Given the description of an element on the screen output the (x, y) to click on. 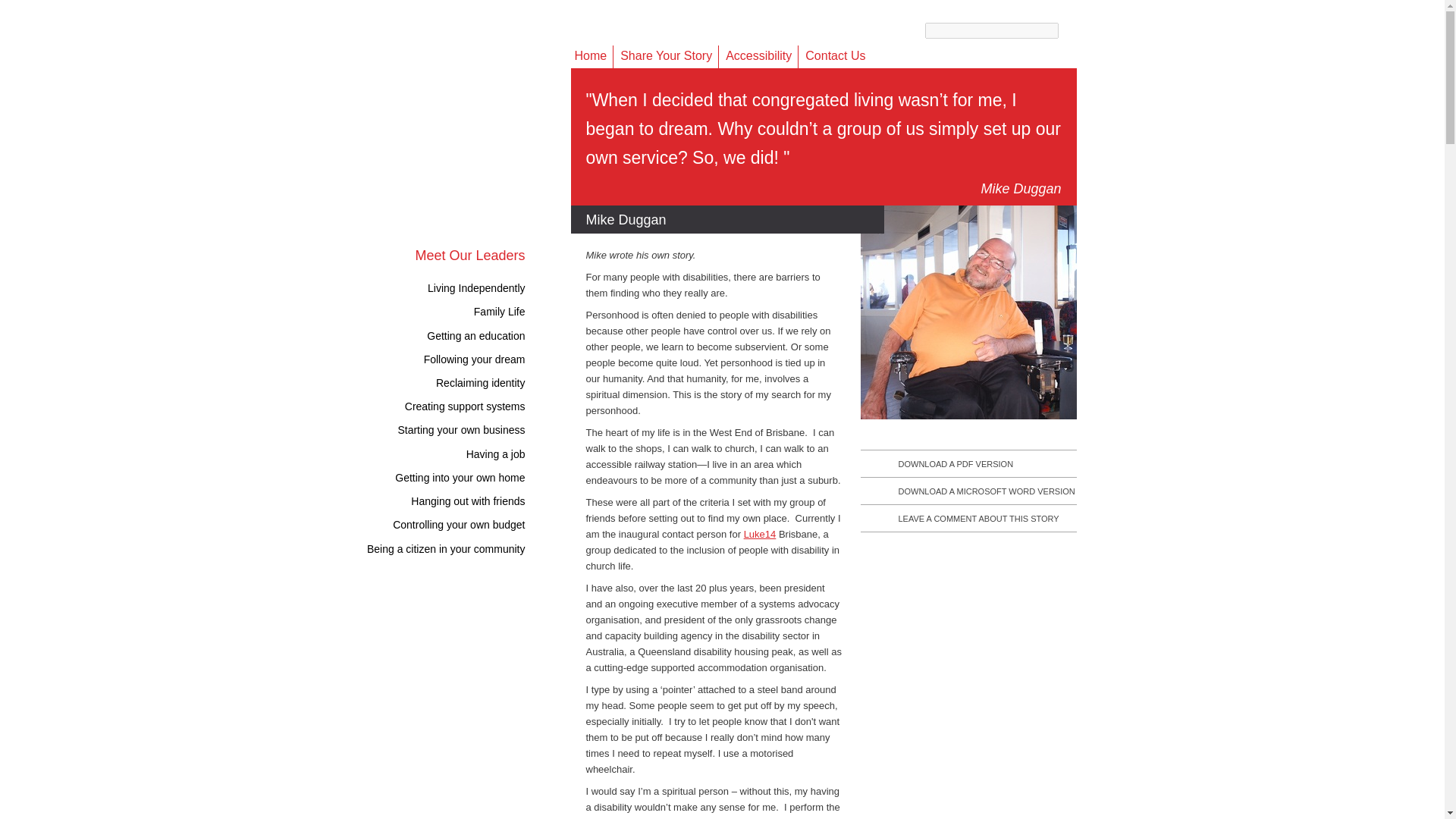
Getting into your own home (470, 477)
Share Your Story (665, 55)
Being a citizen in your community (457, 548)
Controlling your own budget (470, 524)
Starting your own business (472, 429)
Family Life (511, 311)
Creating support systems (476, 406)
DOWNLOAD A PDF VERSION (955, 463)
Home (591, 55)
Meet Our Leaders (469, 255)
Accessibility (758, 55)
Reclaiming identity (491, 382)
Living Independently (487, 287)
The One Hundred Leaders Project (467, 134)
